Given the description of an element on the screen output the (x, y) to click on. 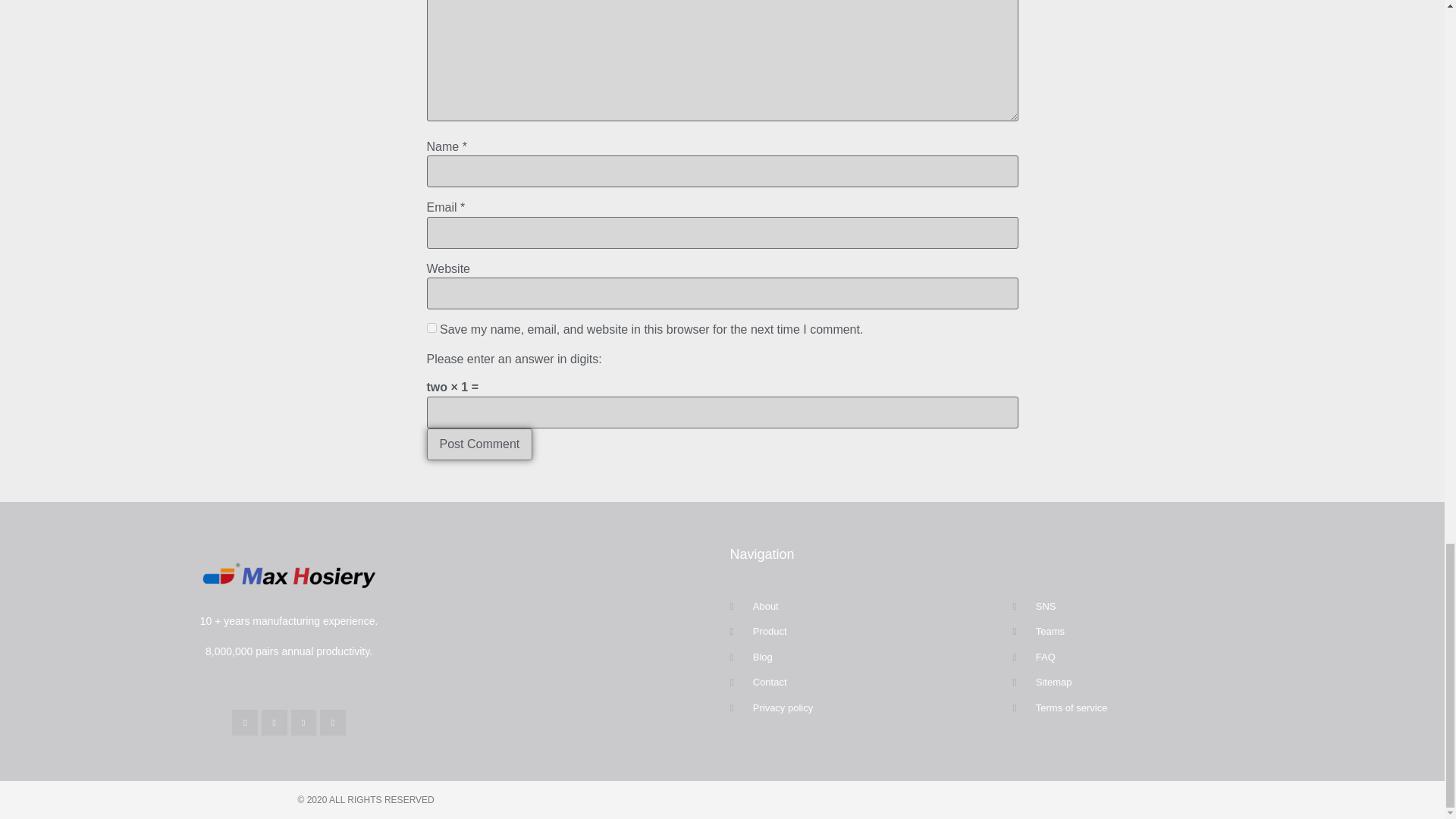
Post Comment (479, 444)
yes (430, 327)
